Given the description of an element on the screen output the (x, y) to click on. 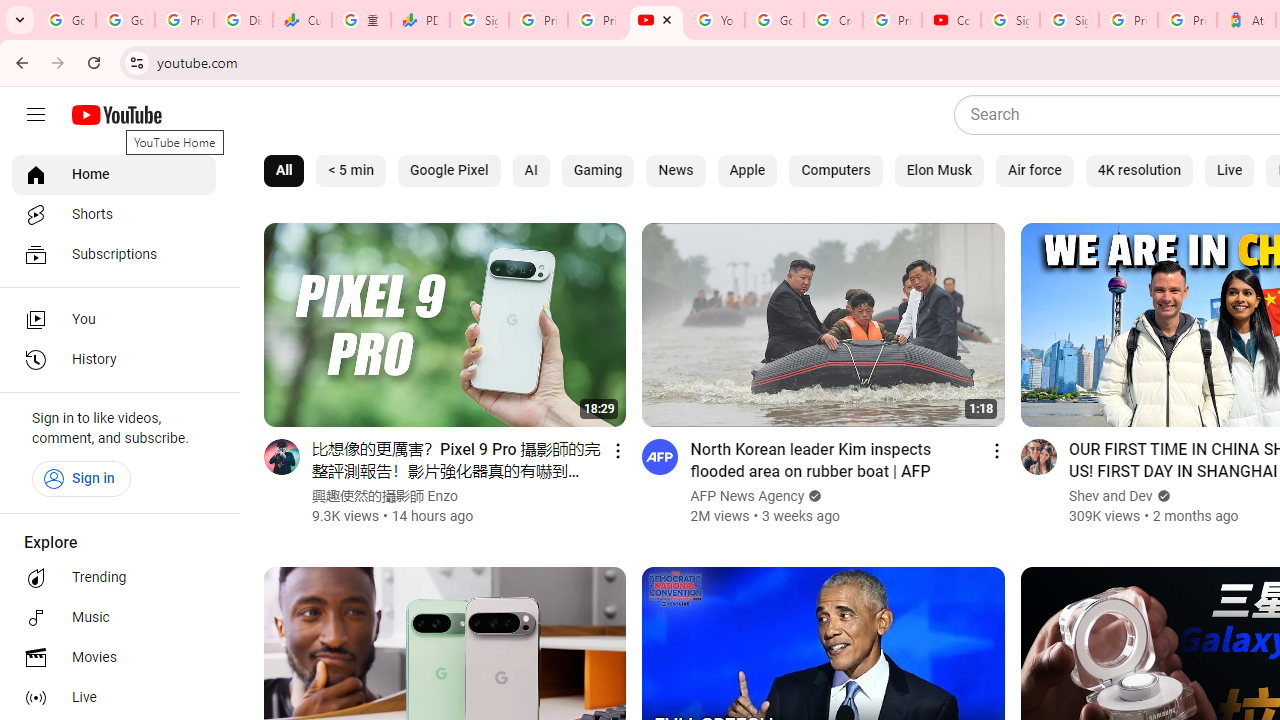
Shev and Dev (1110, 496)
Currencies - Google Finance (301, 20)
Sign in - Google Accounts (1069, 20)
Live (1229, 170)
Computers (835, 170)
YouTube (715, 20)
Music (113, 617)
All (283, 170)
